Given the description of an element on the screen output the (x, y) to click on. 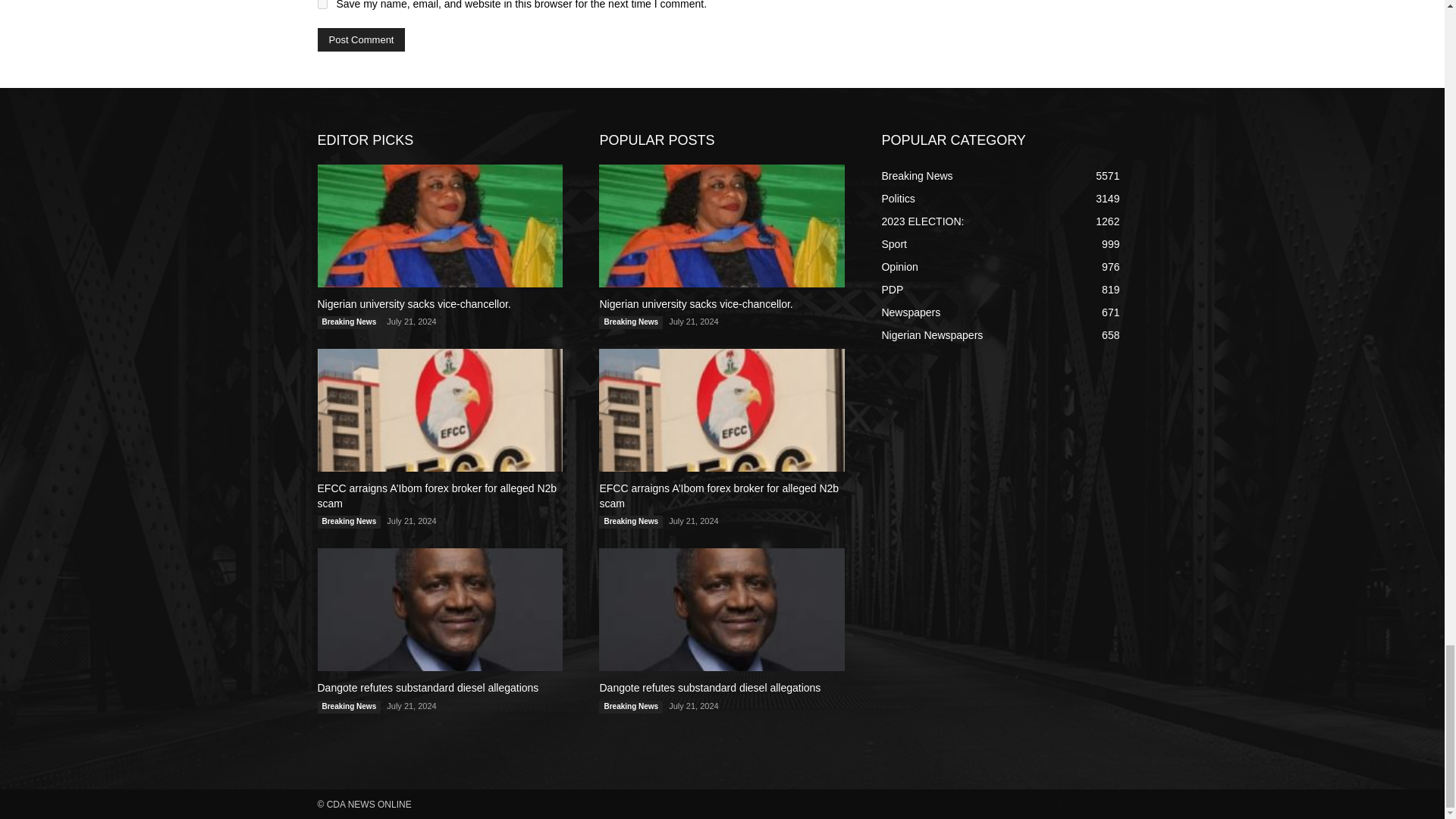
yes (321, 4)
Post Comment (360, 39)
